Given the description of an element on the screen output the (x, y) to click on. 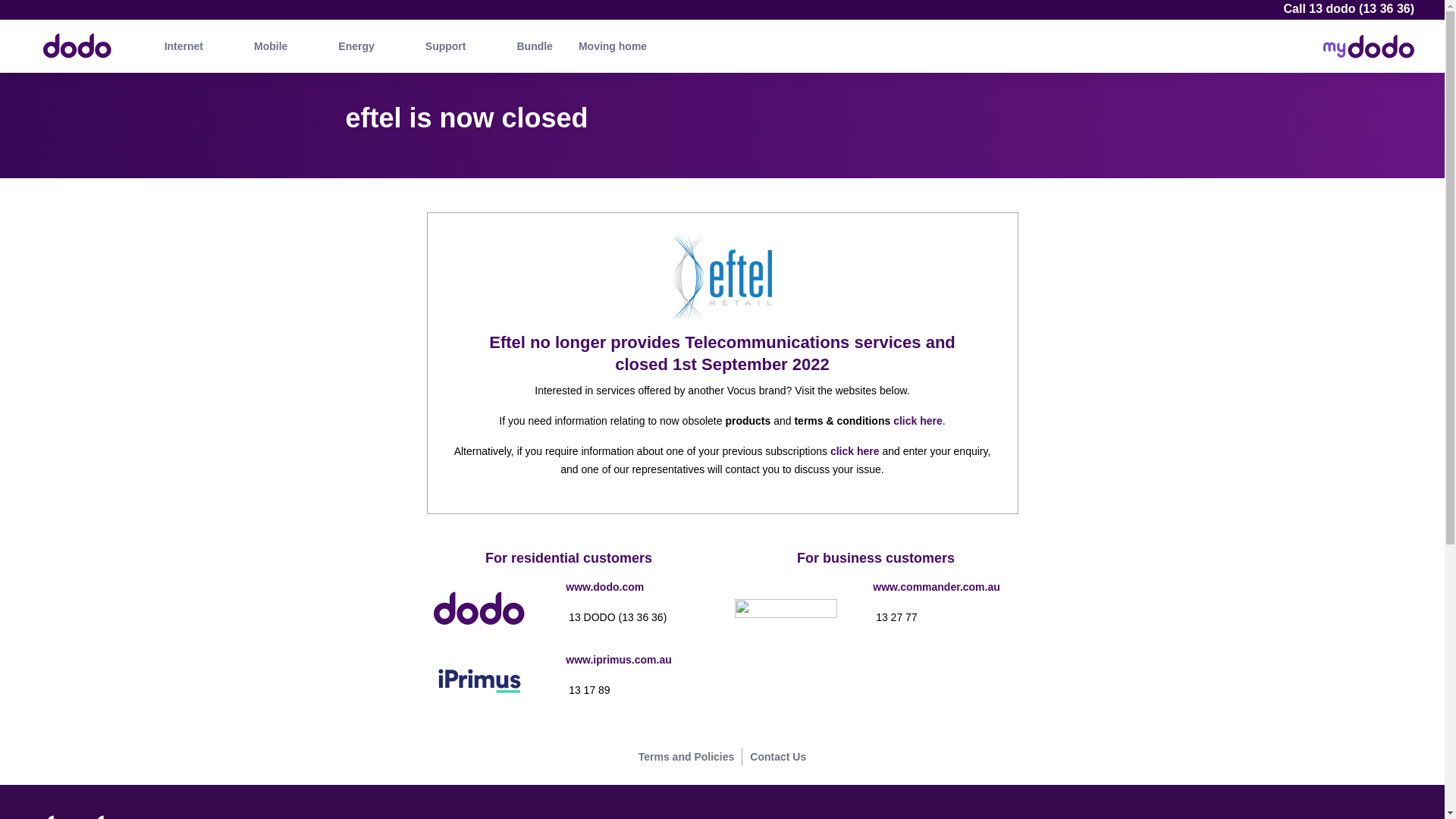
Moving home Element type: text (612, 45)
click here Element type: text (854, 451)
www.dodo.com Element type: text (604, 586)
Bundle Element type: text (534, 45)
Call 13 dodo (13 36 36) Element type: text (1348, 8)
Terms and Policies Element type: text (686, 756)
Mobile Element type: text (270, 45)
Energy Element type: text (355, 45)
Internet Element type: text (183, 45)
www.iprimus.com.au Element type: text (618, 659)
click here Element type: text (917, 420)
Home Element type: hover (69, 38)
Skip to main content Element type: text (721, 1)
Contact Us Element type: text (777, 756)
www.commander.com.au Element type: text (936, 586)
Support Element type: text (445, 45)
